Given the description of an element on the screen output the (x, y) to click on. 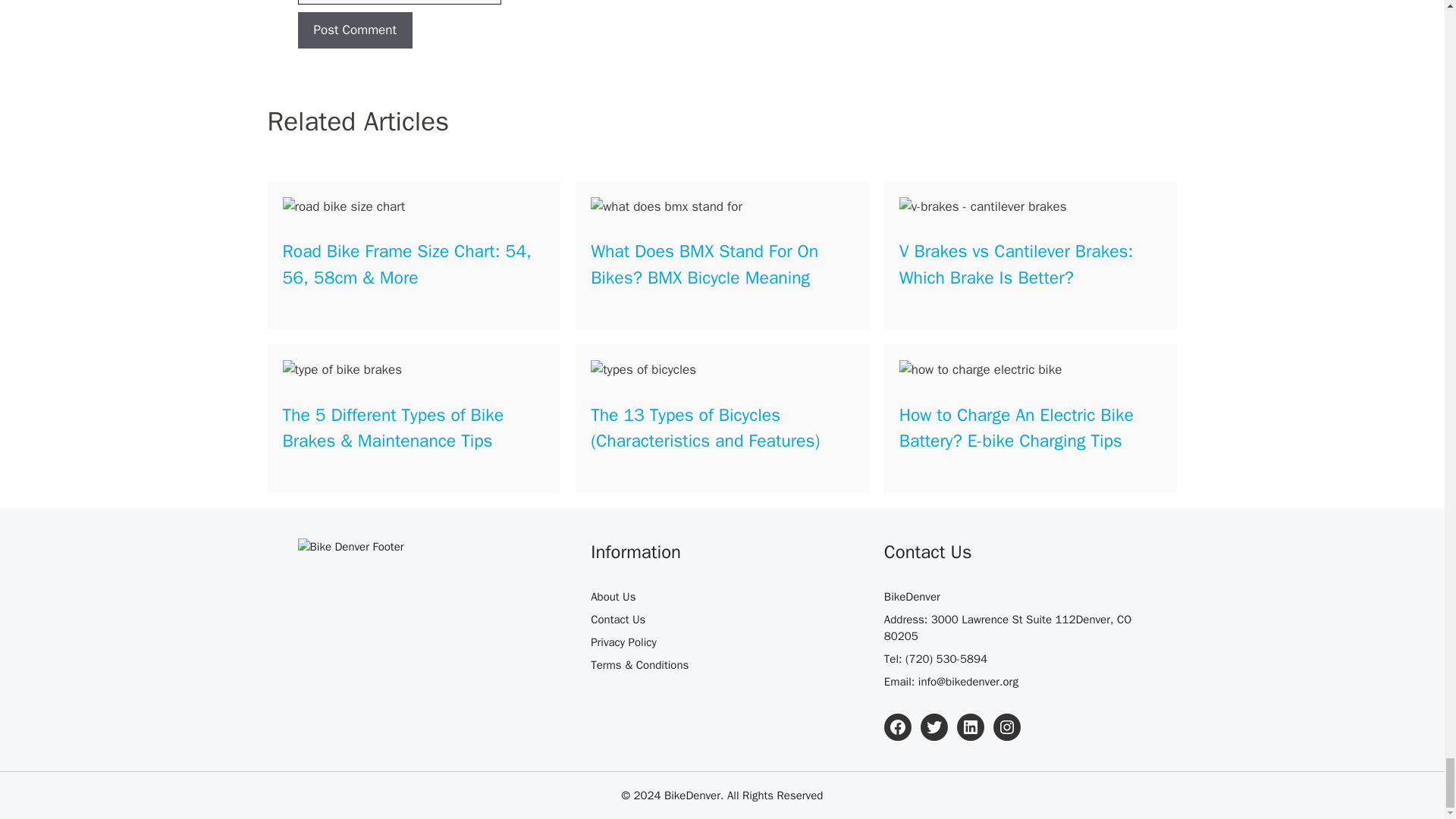
Post Comment (354, 30)
What Does BMX Stand For On Bikes? BMX Bicycle Meaning (704, 264)
Post Comment (354, 30)
V Brakes vs Cantilever Brakes: Which Brake Is Better? (1016, 264)
